Given the description of an element on the screen output the (x, y) to click on. 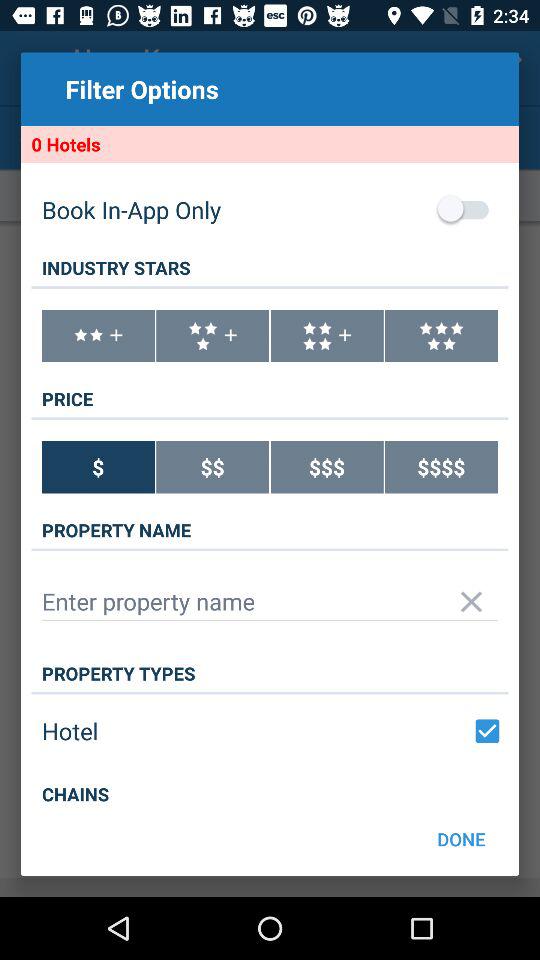
rating option (98, 335)
